Given the description of an element on the screen output the (x, y) to click on. 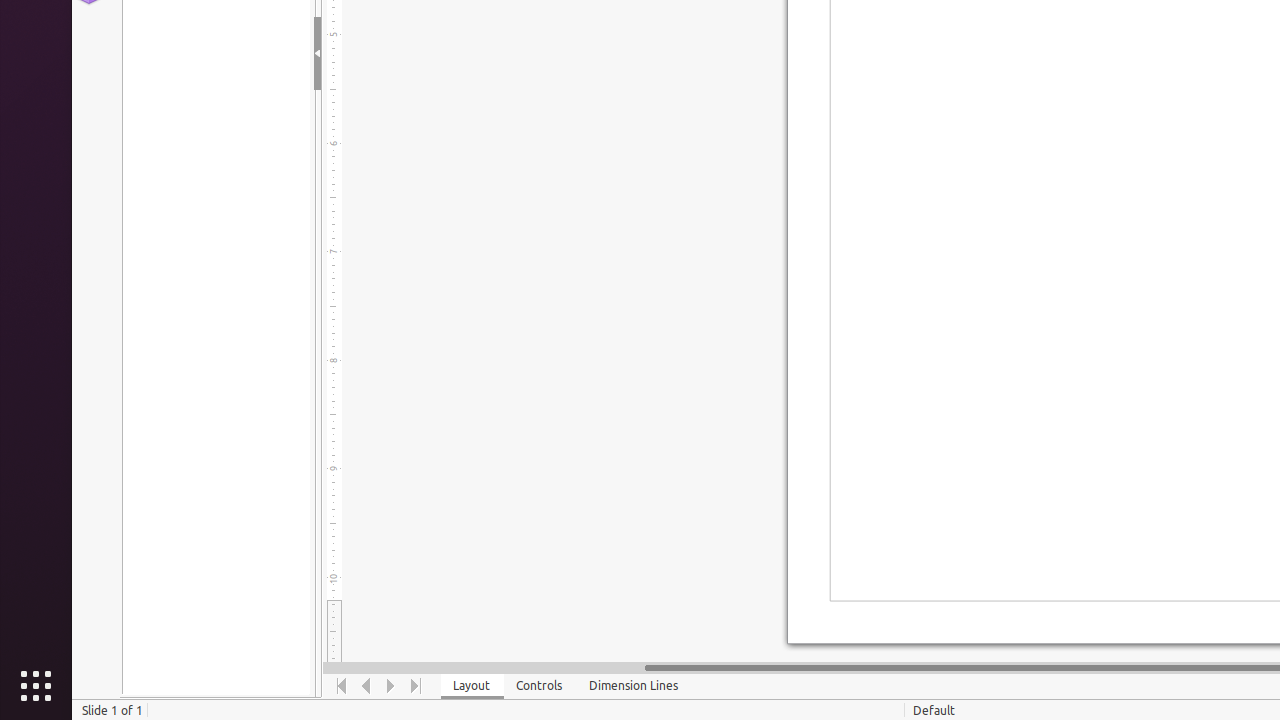
Layout Element type: page-tab (472, 686)
Controls Element type: page-tab (540, 686)
Move To Home Element type: push-button (341, 686)
Dimension Lines Element type: page-tab (634, 686)
Show Applications Element type: toggle-button (36, 686)
